Given the description of an element on the screen output the (x, y) to click on. 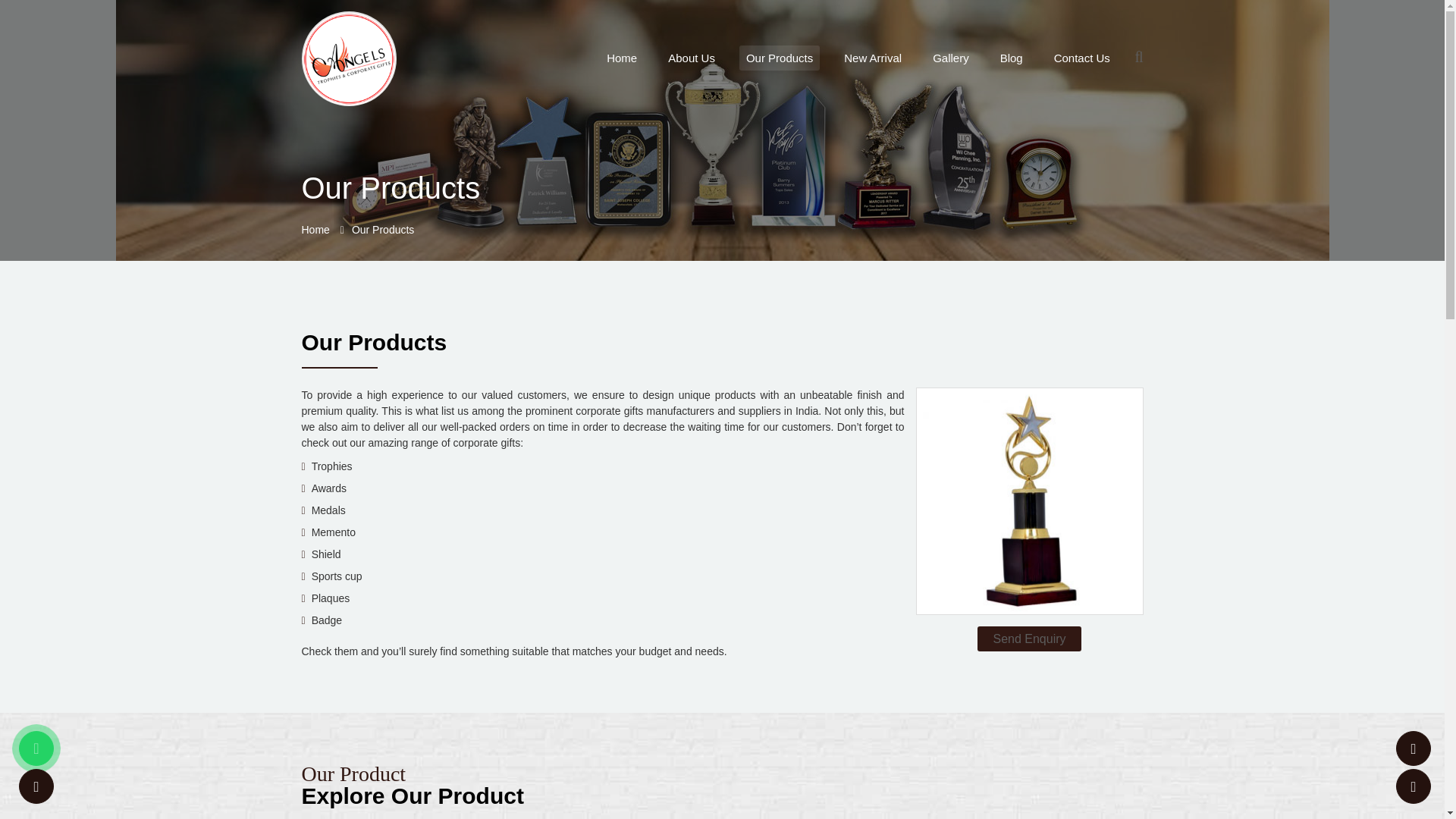
Angels Trophies (348, 57)
Our Products (778, 57)
About Us (692, 57)
Home (621, 57)
Welcome to Angels Trophies in Riyadh (348, 58)
Trophies Manufacturers in Riyadh (778, 57)
